Given the description of an element on the screen output the (x, y) to click on. 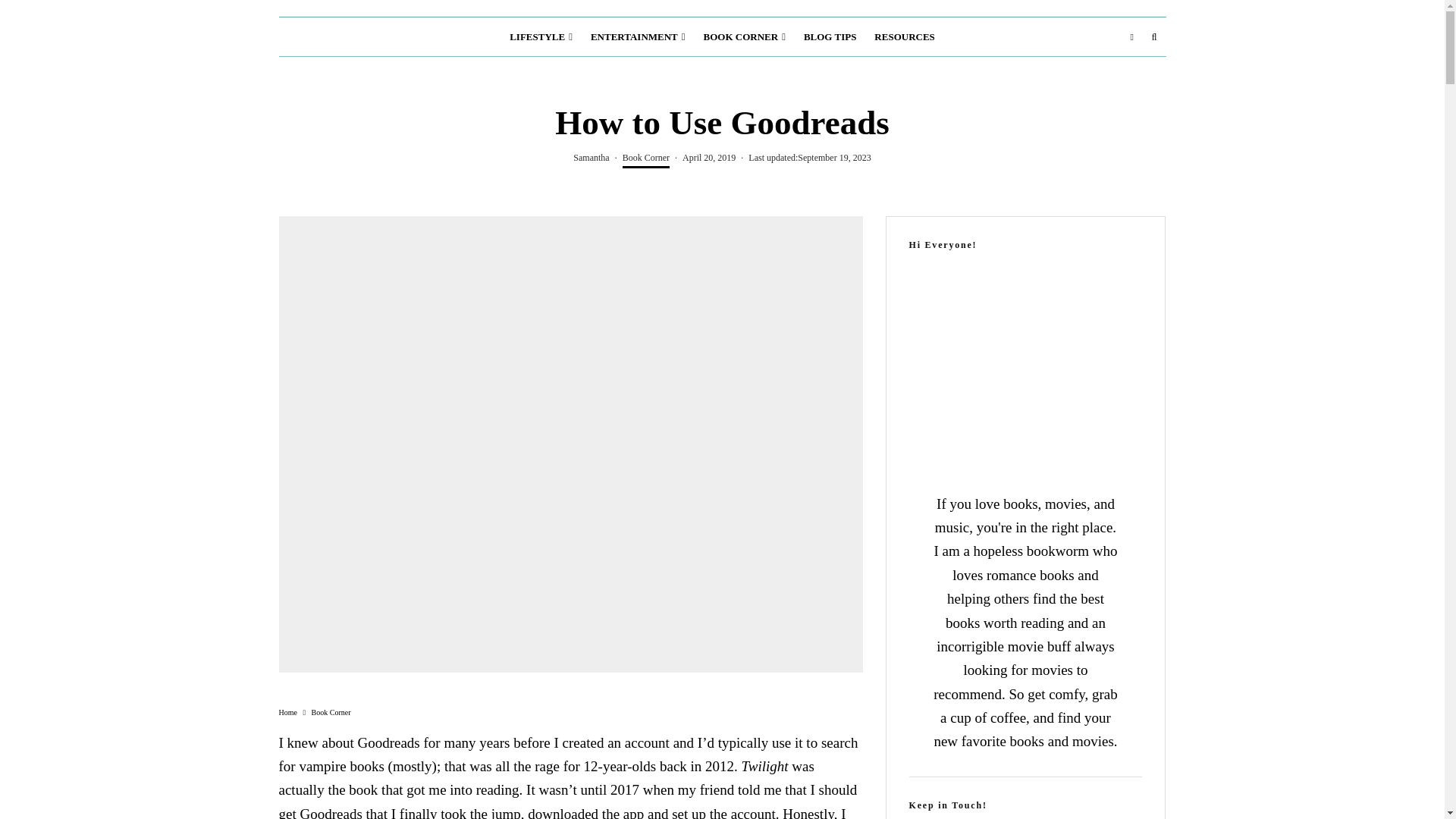
LIFESTYLE (540, 36)
BOOK CORNER (744, 36)
ENTERTAINMENT (637, 36)
